Given the description of an element on the screen output the (x, y) to click on. 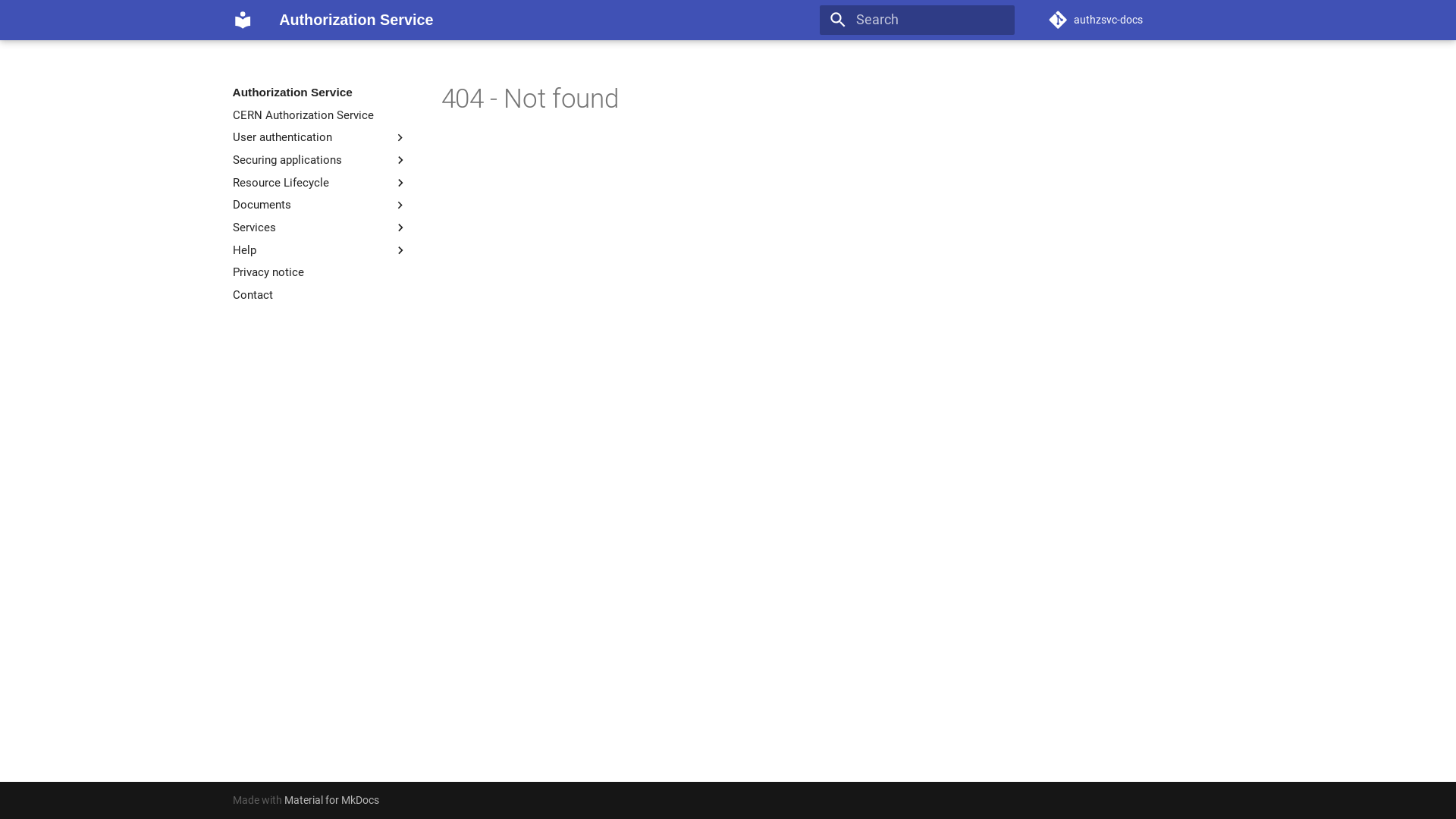
Privacy notice Element type: text (319, 271)
authzsvc-docs Element type: text (1135, 20)
CERN Authorization Service Element type: text (319, 114)
Contact Element type: text (319, 294)
Authorization Service Element type: hover (242, 19)
Material for MkDocs Element type: text (331, 799)
